Given the description of an element on the screen output the (x, y) to click on. 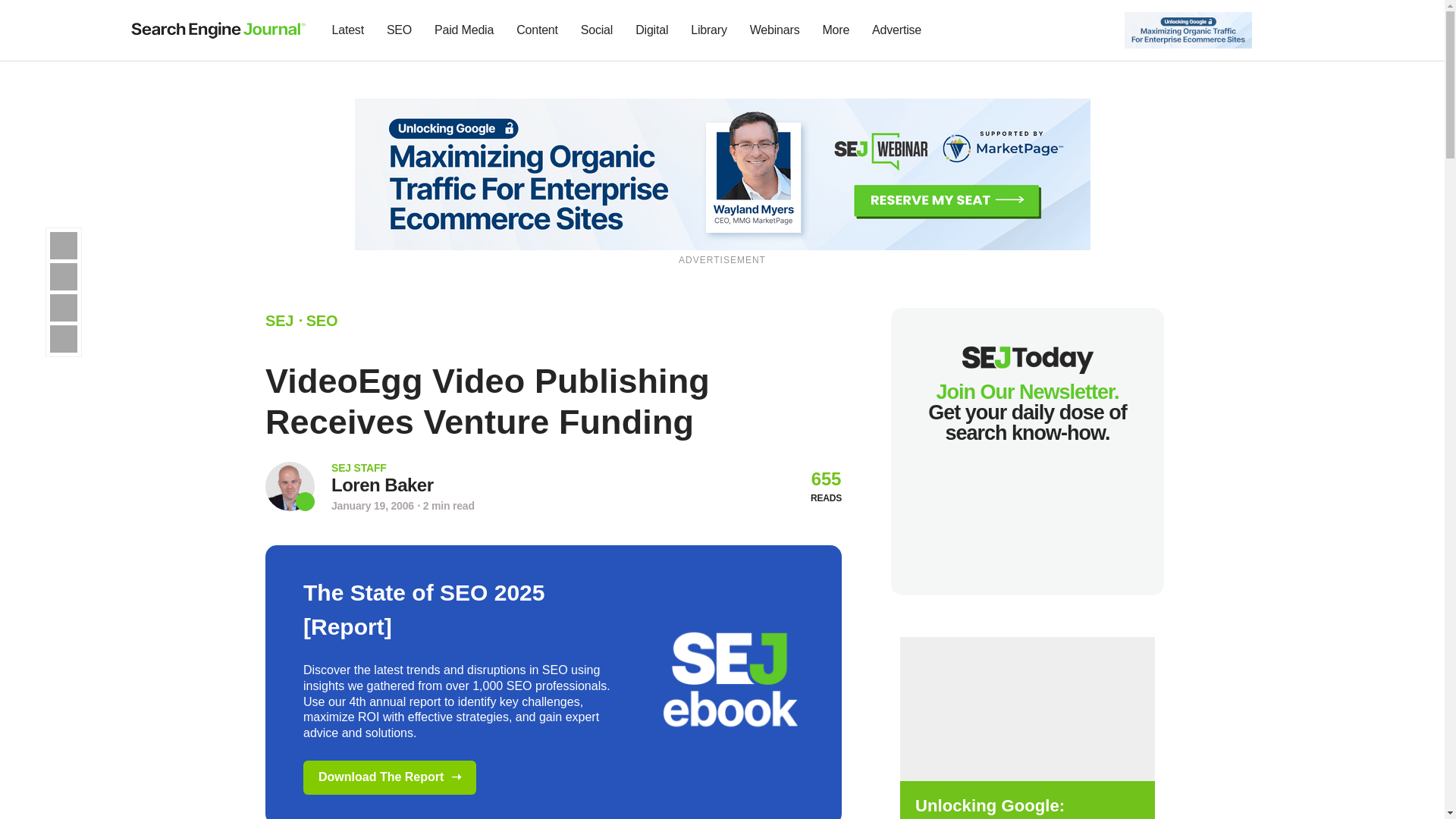
Go to Author Page (289, 486)
Register For Free (722, 172)
Register For Free (1187, 28)
Subscribe to our Newsletter (1277, 30)
Paid Media (464, 30)
Go to Author Page (382, 485)
Latest (347, 30)
